Given the description of an element on the screen output the (x, y) to click on. 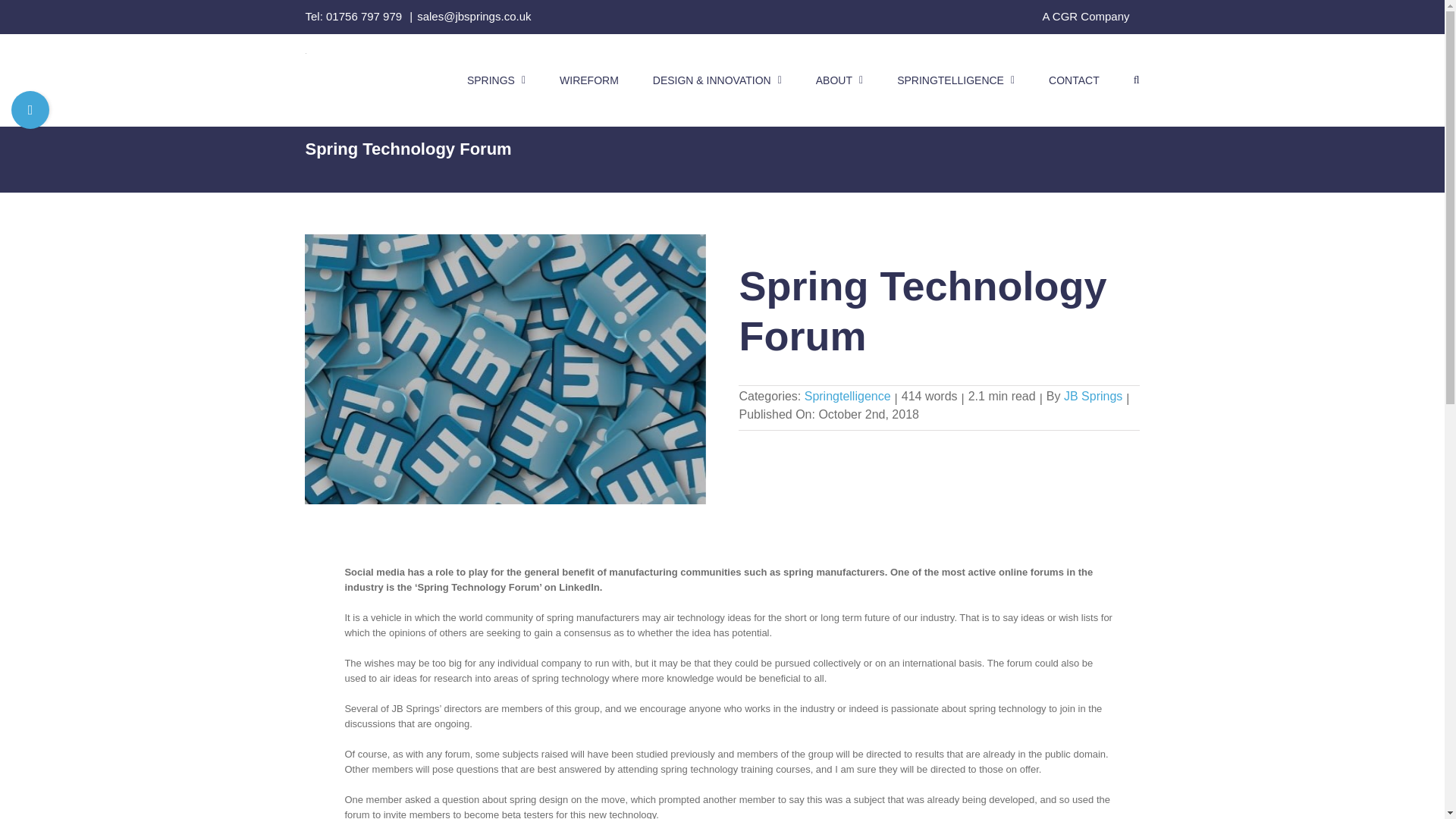
Posts by JB Springs (1093, 395)
A CGR Company (1085, 16)
Tel: 01756 797 979 (354, 15)
SPRINGTELLIGENCE (955, 80)
